Given the description of an element on the screen output the (x, y) to click on. 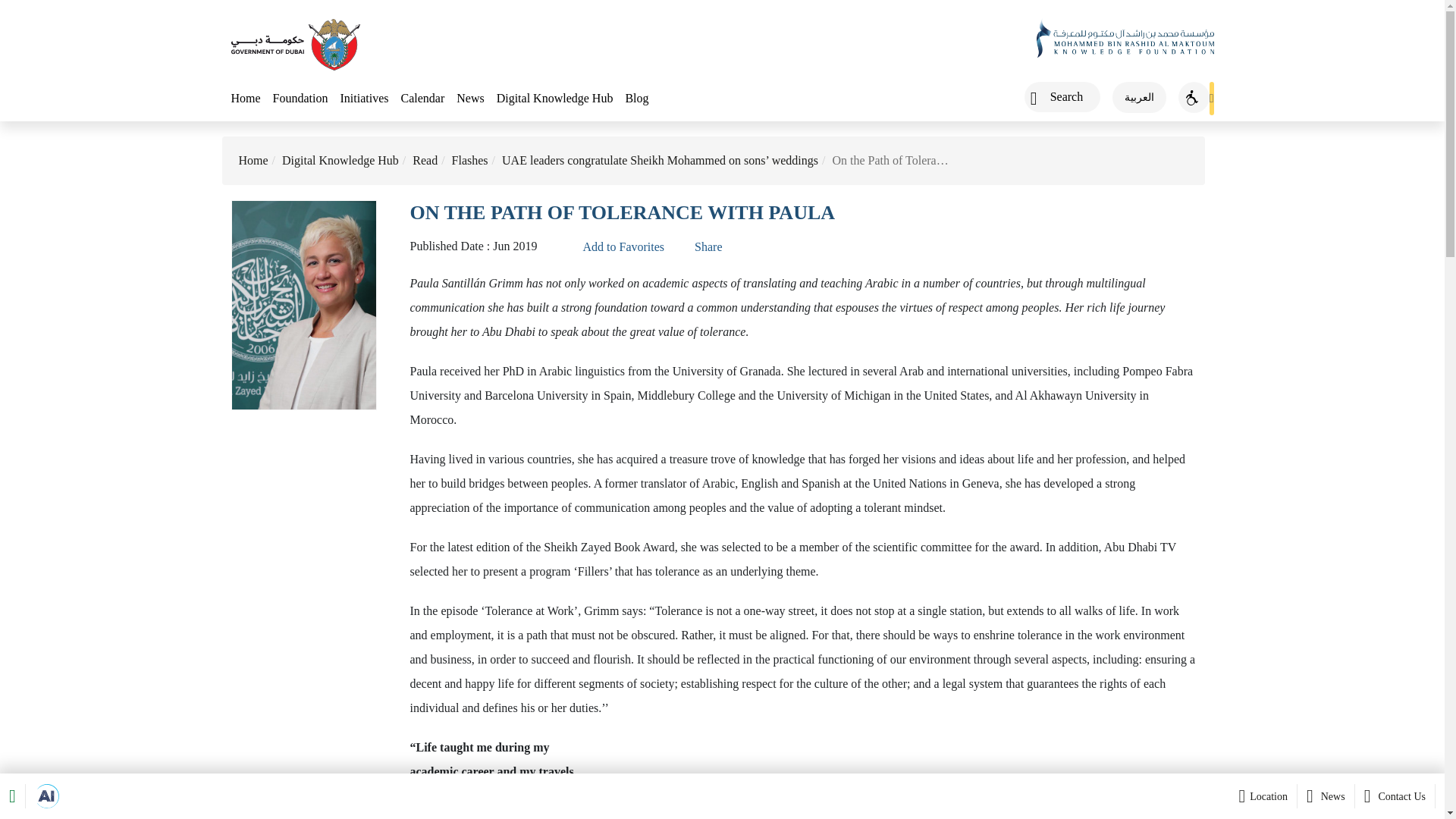
Calendar (422, 98)
Read (425, 160)
Location (1261, 795)
Foundation (301, 98)
Accessibility (1193, 97)
Contact Us (1395, 795)
News (1326, 795)
Initiatives (363, 98)
Home (252, 160)
Digital Knowledge Hub (340, 160)
Digital Knowledge Hub (554, 98)
Flashes (469, 160)
Accessibility (1193, 97)
